Given the description of an element on the screen output the (x, y) to click on. 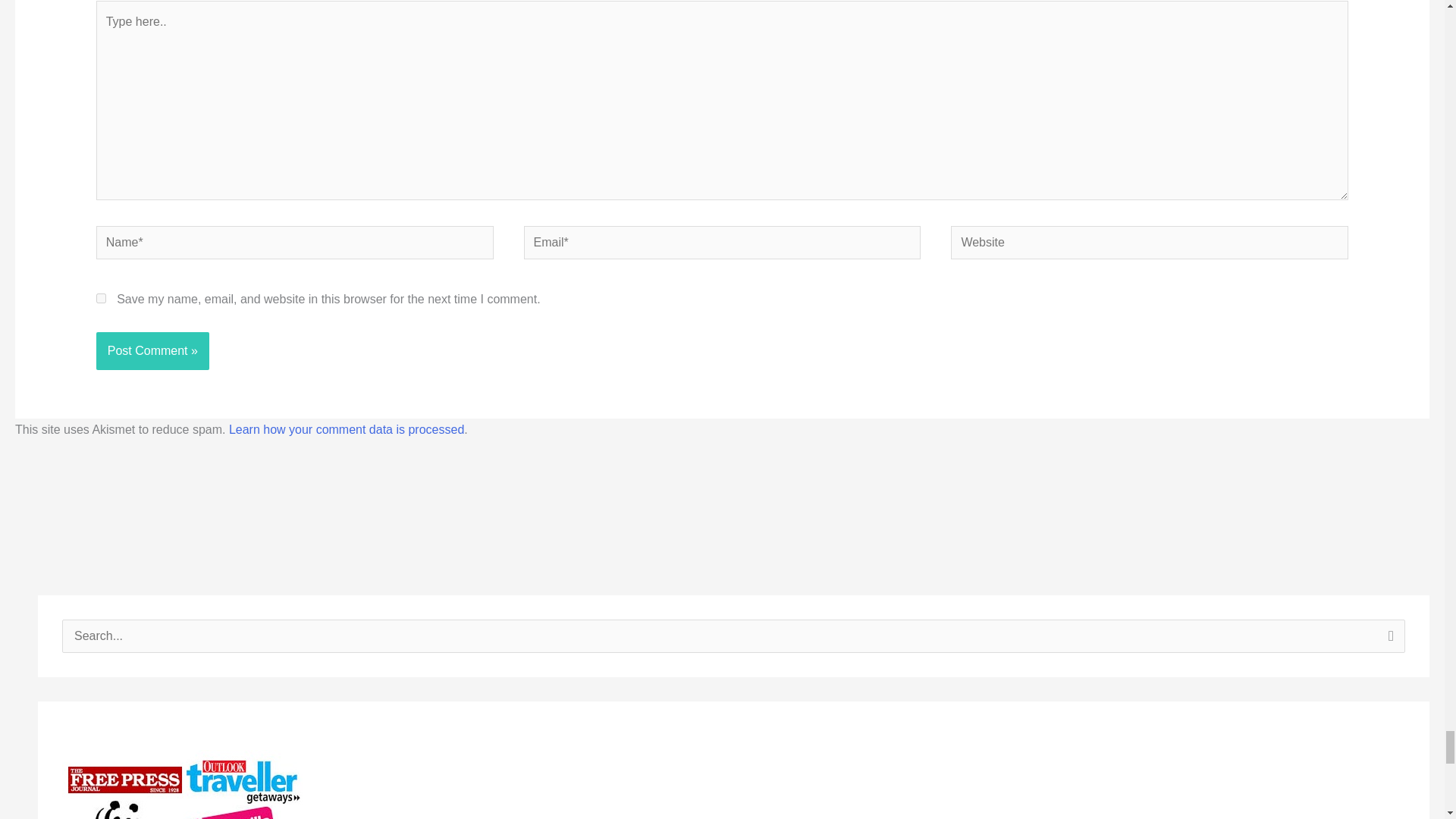
yes (101, 298)
